Given the description of an element on the screen output the (x, y) to click on. 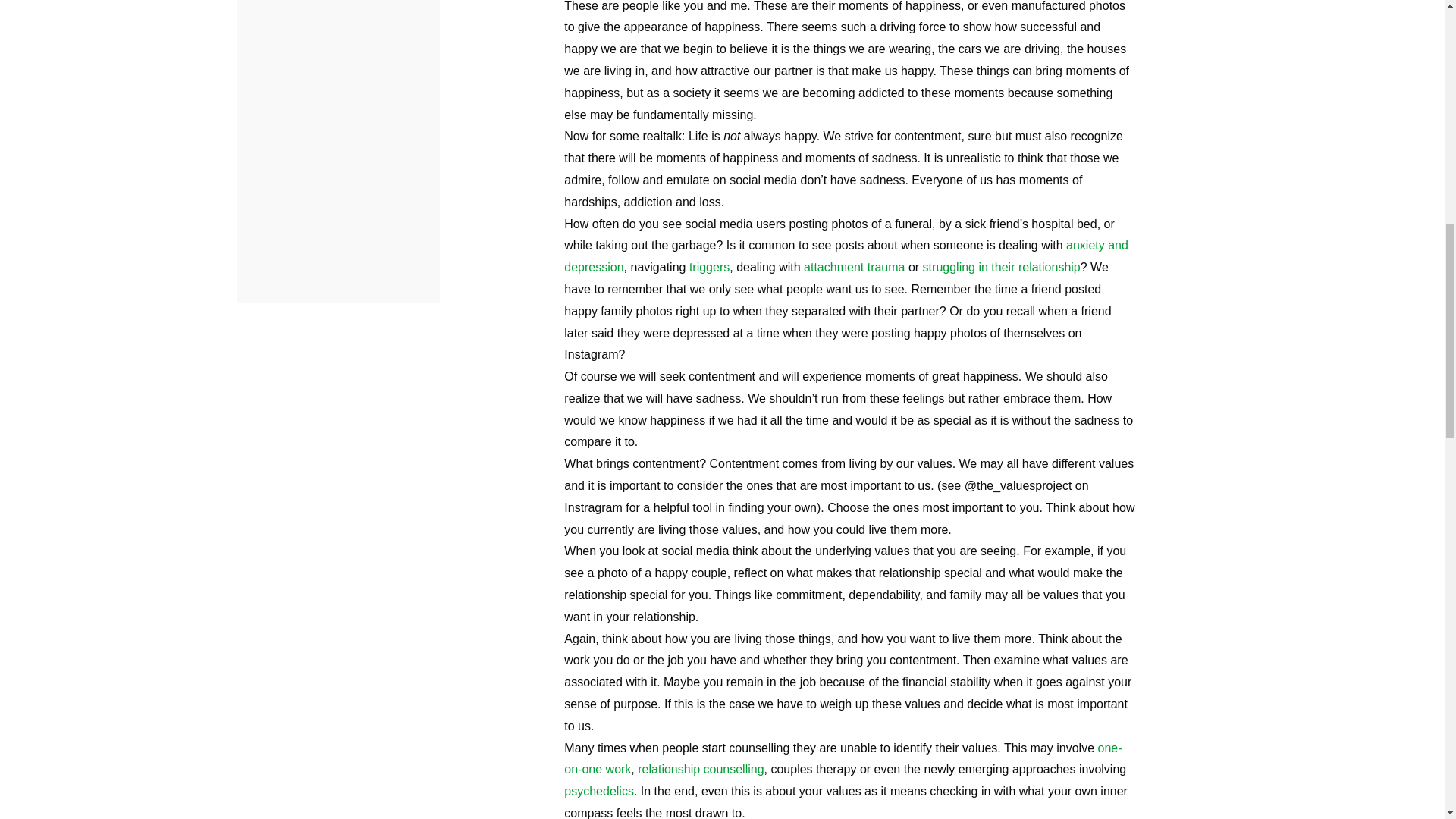
struggling in their relationship (1001, 267)
attachment trauma (853, 267)
anxiety and depression (846, 256)
one-on-one work (842, 759)
triggers (708, 267)
psychedelics (598, 790)
relationship counselling (699, 768)
